Given the description of an element on the screen output the (x, y) to click on. 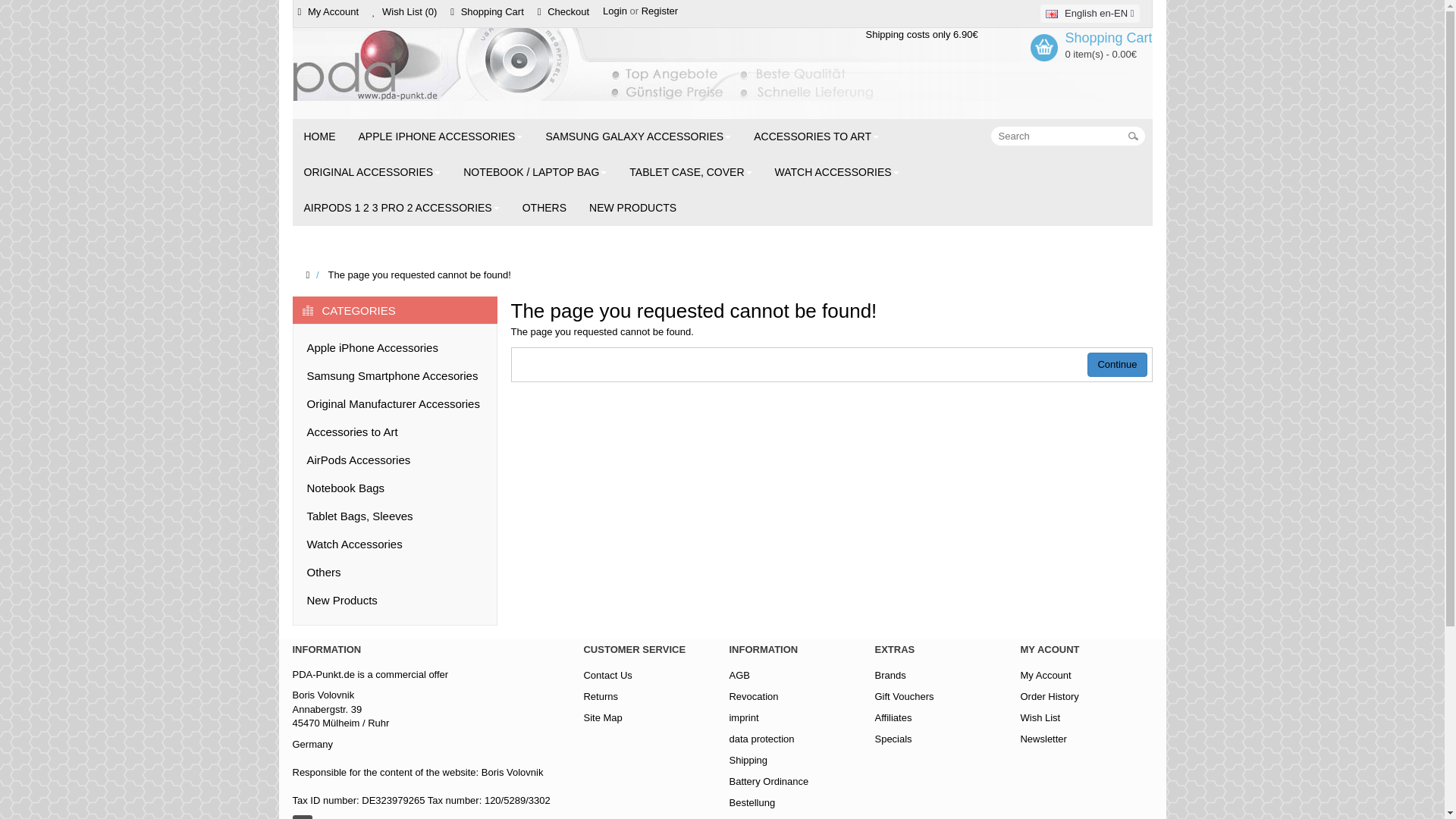
APPLE IPHONE ACCESSORIES (440, 136)
English en-EN (1051, 13)
HOME (319, 136)
My Account (329, 11)
Login (614, 10)
Register (660, 10)
English en-EN (1089, 13)
Checkout (564, 11)
Shopping Cart (488, 11)
